Given the description of an element on the screen output the (x, y) to click on. 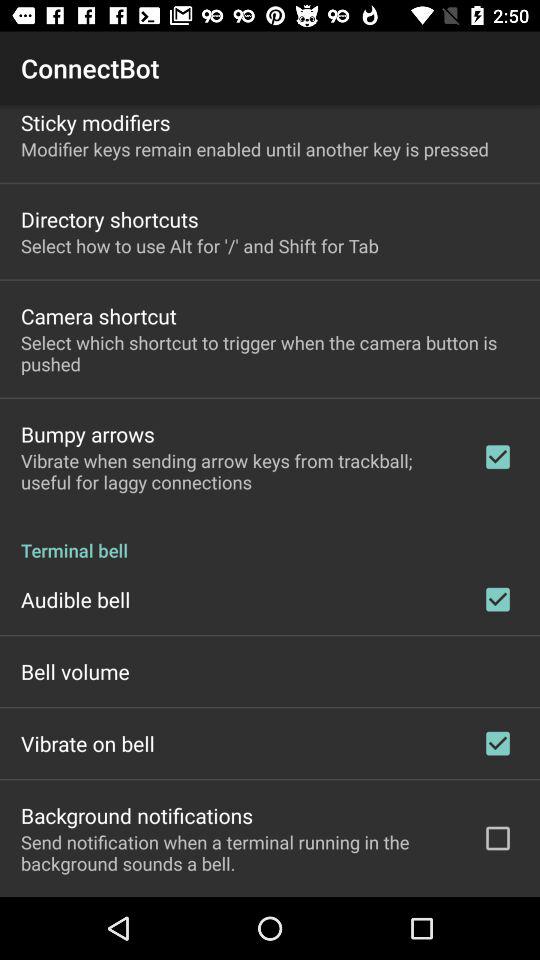
jump to select which shortcut icon (270, 353)
